Given the description of an element on the screen output the (x, y) to click on. 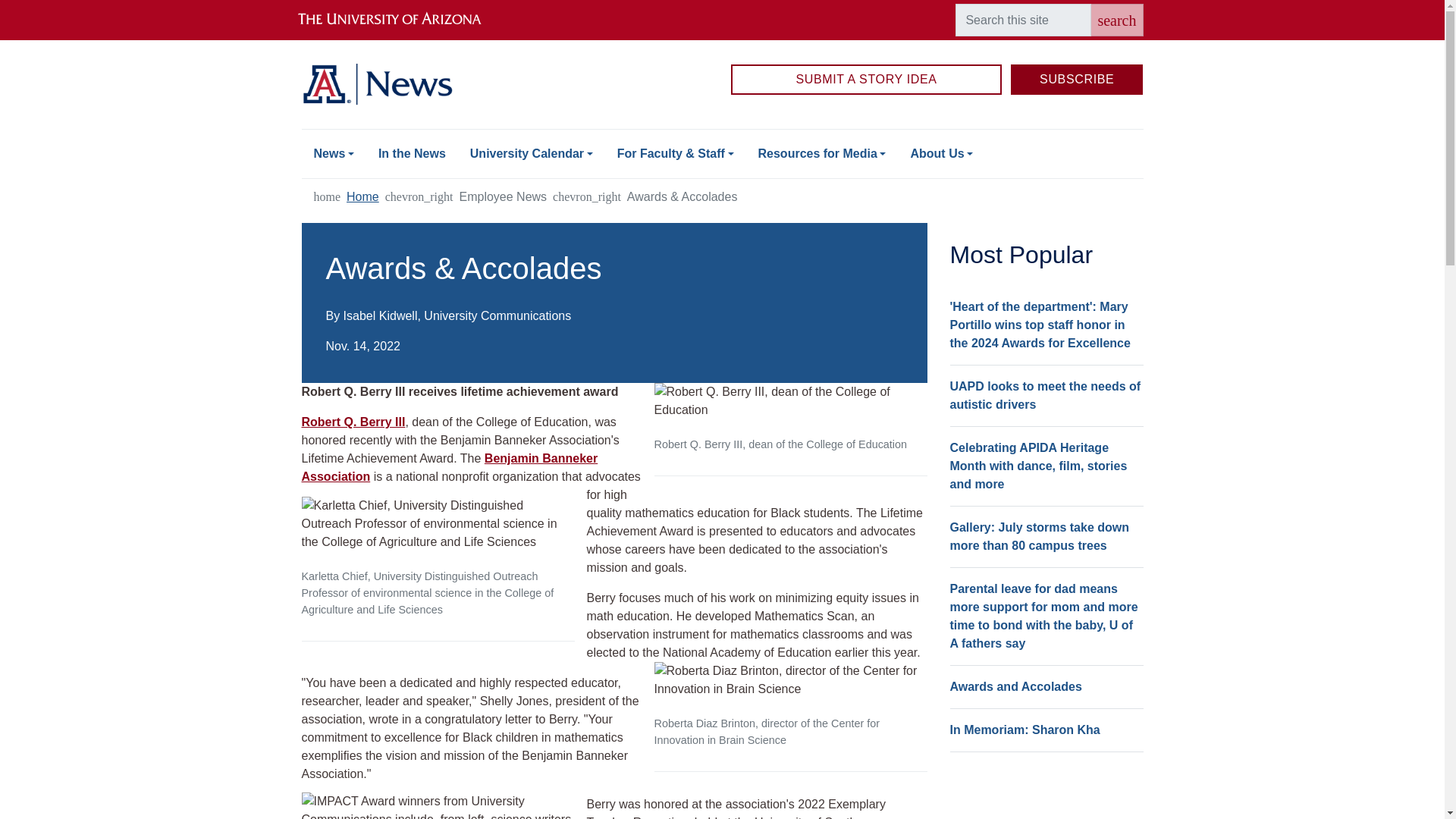
In the News (412, 153)
SUBSCRIBE (1076, 79)
search (1116, 20)
News (333, 153)
University Calendar (531, 153)
Enter the terms you wish to search for. (1022, 20)
SUBMIT A STORY IDEA (865, 79)
The University of Arizona homepage (401, 20)
Skip to main content (721, 1)
